Given the description of an element on the screen output the (x, y) to click on. 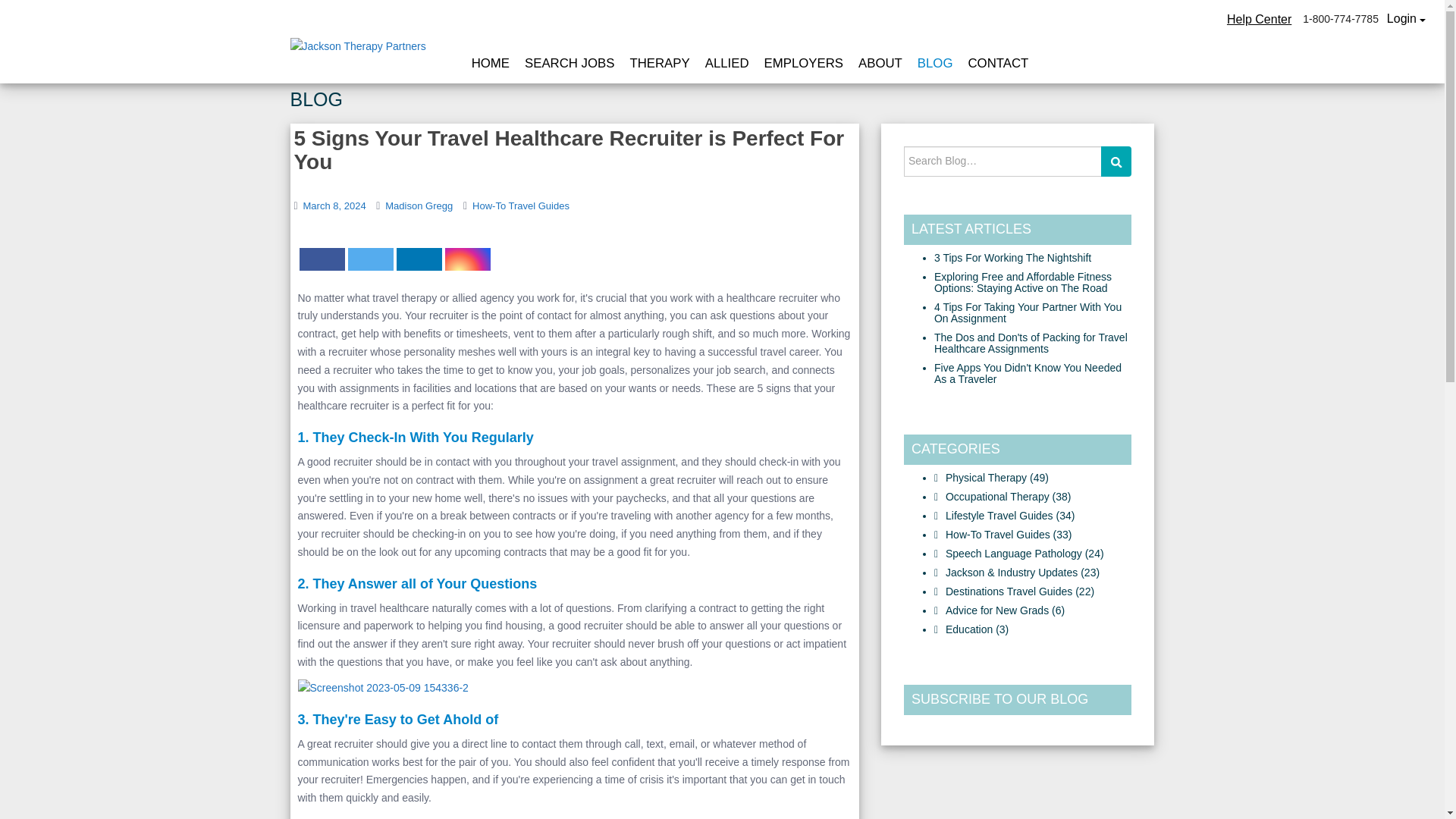
Facebook (320, 259)
ALLIED (726, 63)
Linkedin (418, 259)
Twitter (370, 259)
HOME (490, 63)
Jackson Therapy Partners (357, 46)
Login (1406, 18)
Help Center (1259, 19)
SEARCH JOBS (569, 63)
EMPLOYERS (803, 63)
